Given the description of an element on the screen output the (x, y) to click on. 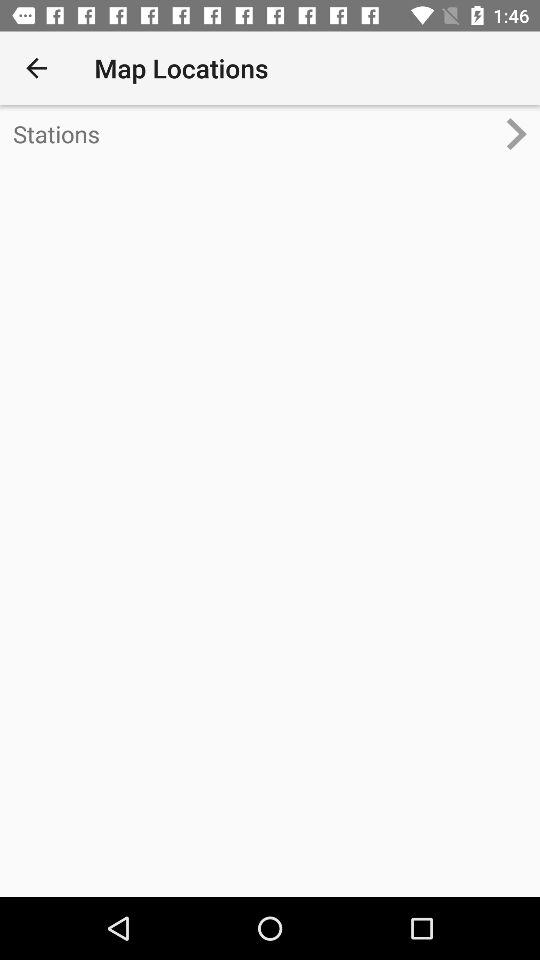
press the item to the right of the stations icon (523, 133)
